Given the description of an element on the screen output the (x, y) to click on. 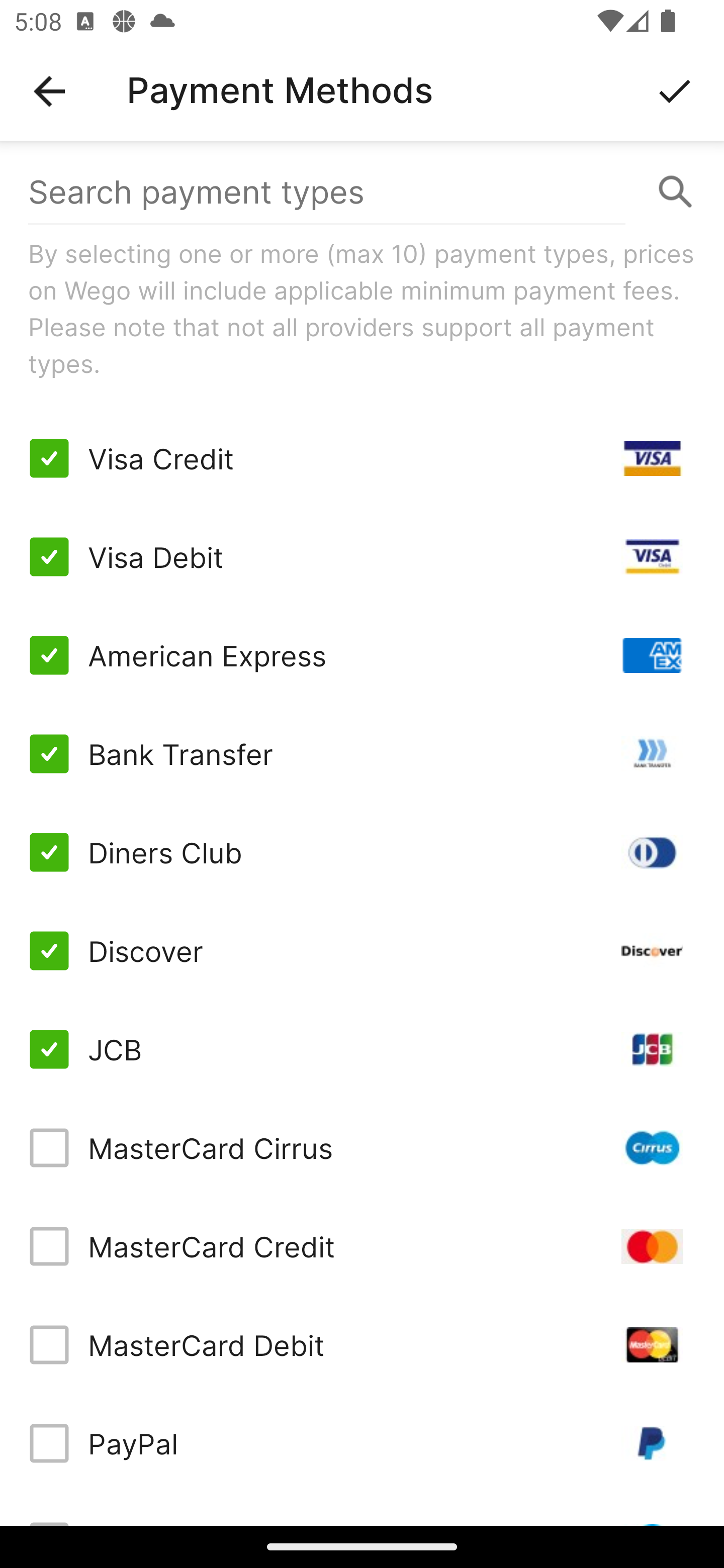
Search payment types  (361, 191)
Visa Credit (362, 458)
Visa Debit (362, 557)
American Express (362, 655)
Bank Transfer (362, 753)
Diners Club (362, 851)
Discover (362, 950)
JCB (362, 1049)
MasterCard Cirrus (362, 1147)
MasterCard Credit (362, 1245)
MasterCard Debit (362, 1344)
PayPal (362, 1442)
